Given the description of an element on the screen output the (x, y) to click on. 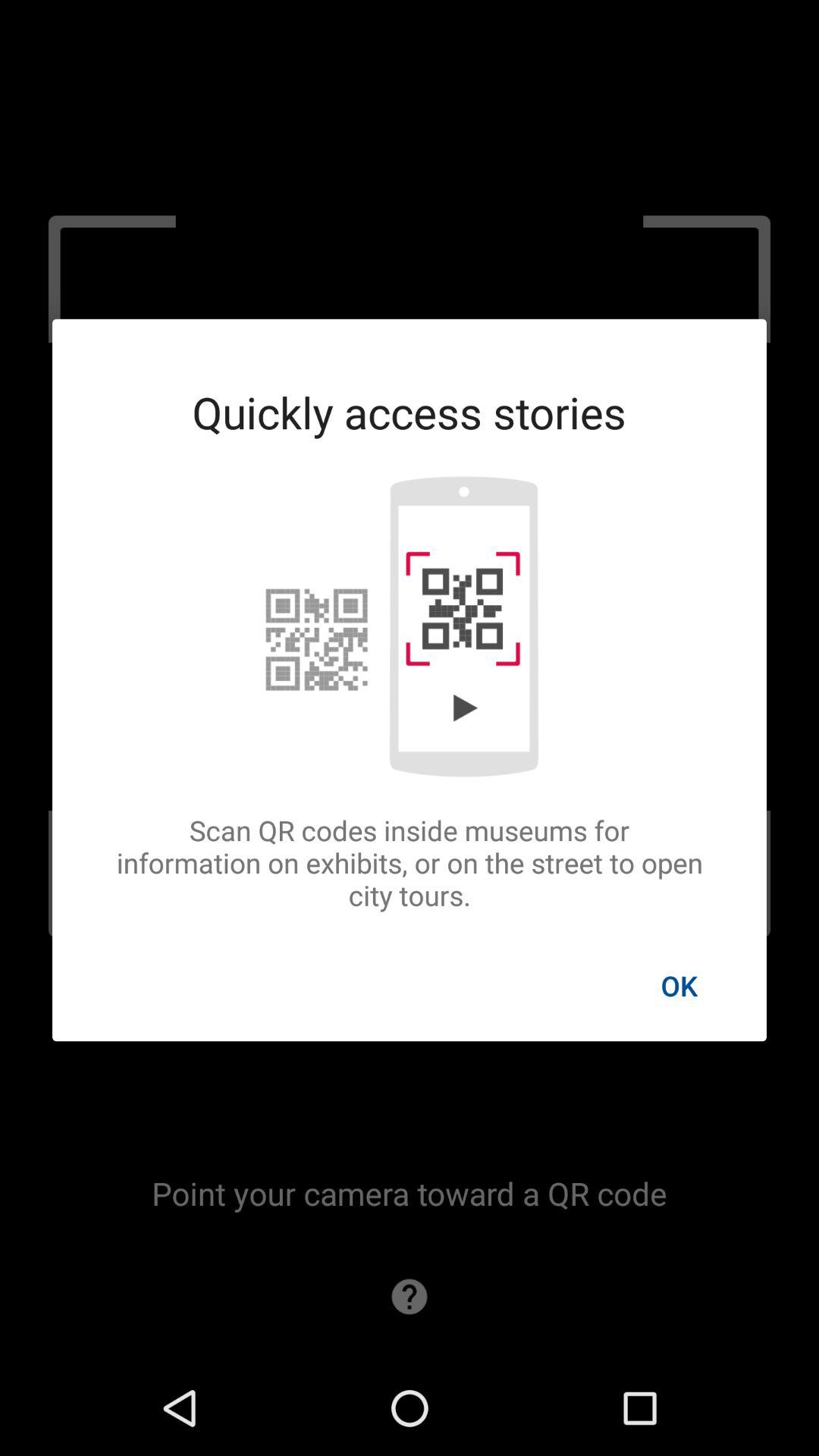
tap the icon below scan qr codes icon (678, 985)
